Given the description of an element on the screen output the (x, y) to click on. 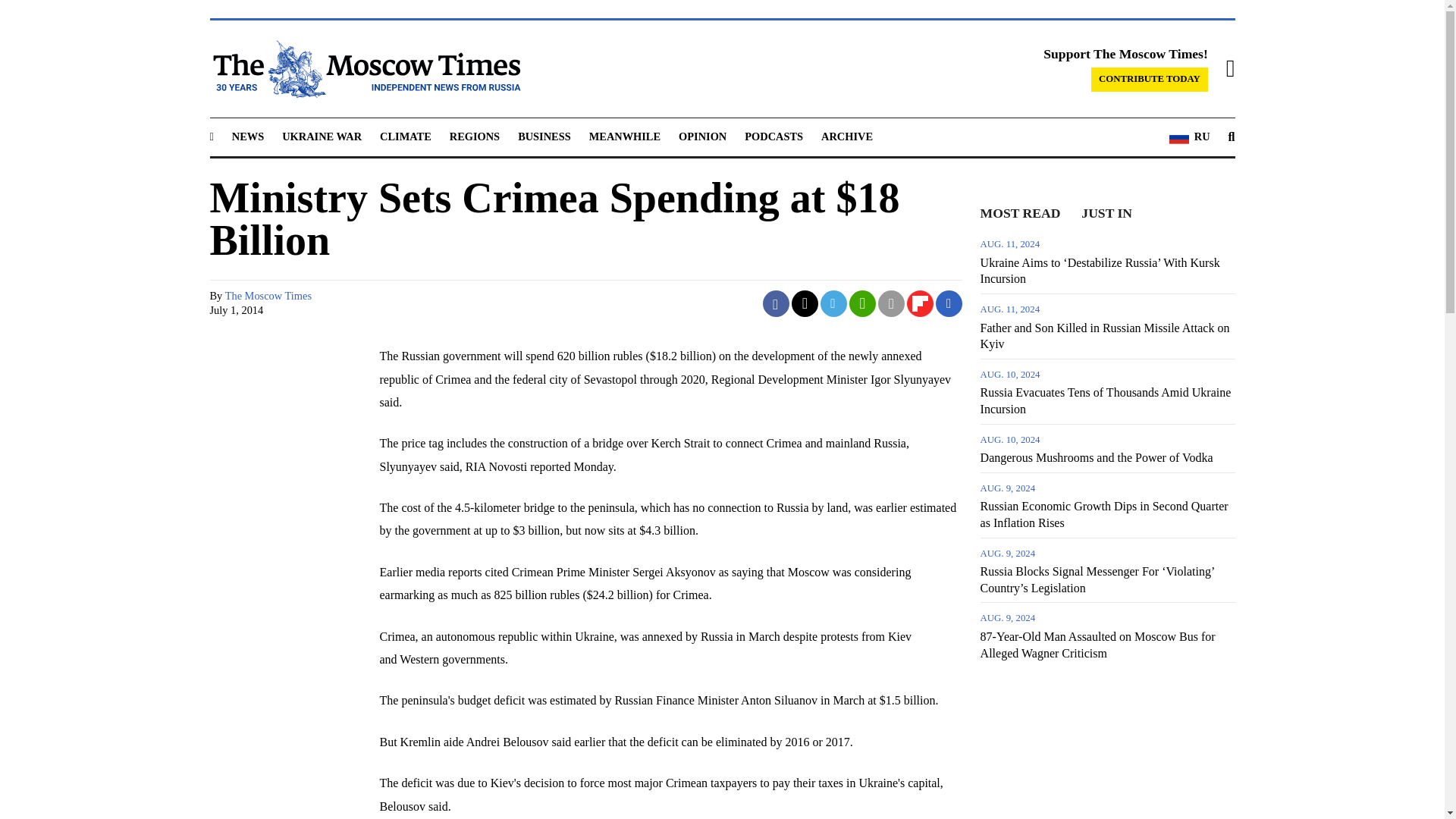
ARCHIVE (846, 136)
NEWS (247, 136)
Share on Twitter (805, 303)
Father and Son Killed in Russian Missile Attack on Kyiv (1106, 325)
The Moscow Times - Independent News from Russia (364, 68)
MEANWHILE (625, 136)
BUSINESS (544, 136)
Share on Telegram (834, 303)
Share on Facebook (775, 303)
PODCASTS (773, 136)
